Given the description of an element on the screen output the (x, y) to click on. 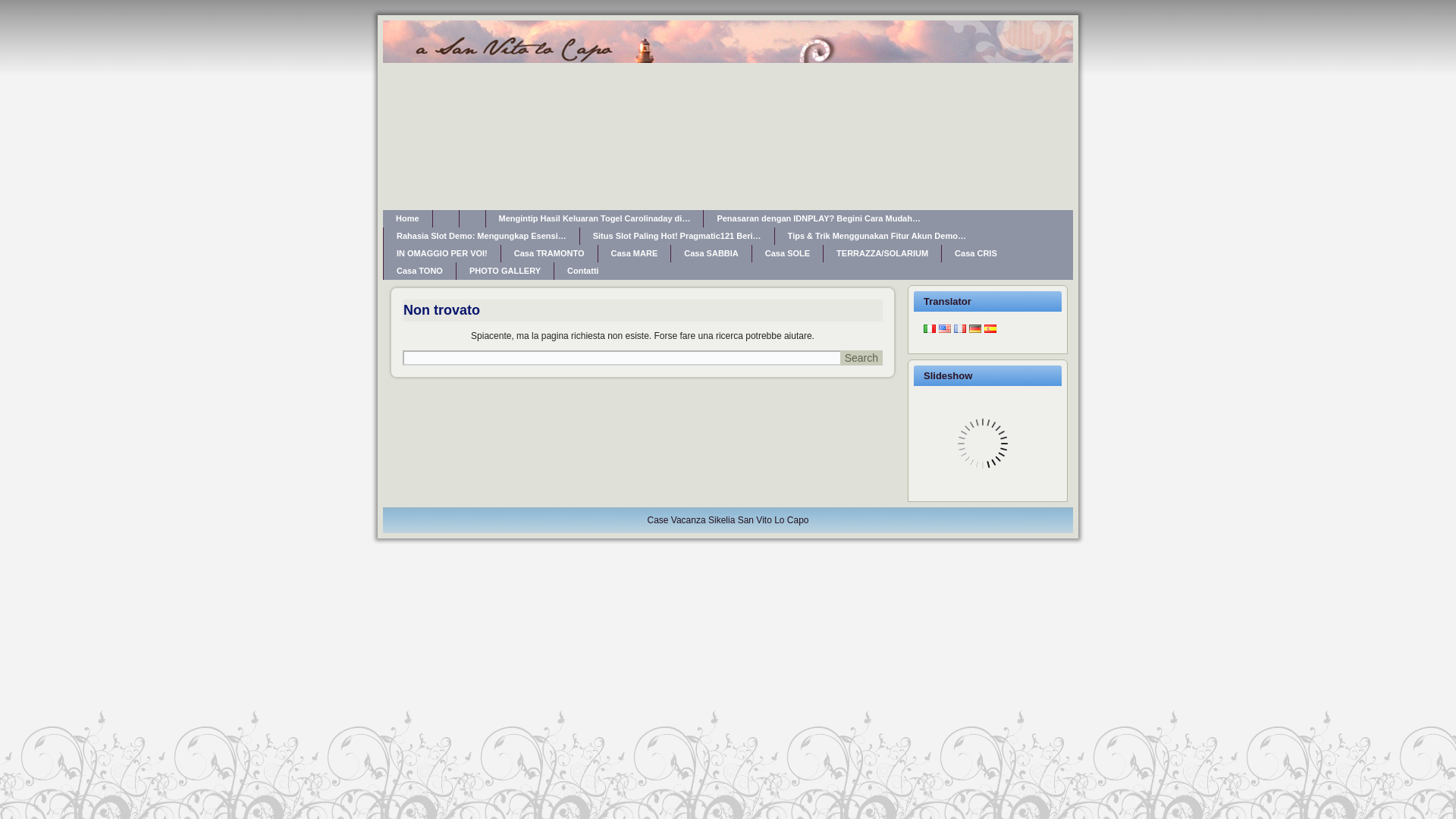
Casa CRIS (976, 253)
Casa MARE (632, 253)
Search (861, 357)
IN OMAGGIO PER VOI! (442, 253)
PHOTO GALLERY (505, 271)
Home (407, 218)
Casa TRAMONTO (548, 253)
Casa TONO (419, 271)
IN OMAGGIO PER VOI! (442, 253)
Casa TRAMONTO (548, 253)
Search (861, 357)
Casa SOLE (787, 253)
Casa TONO (419, 271)
Casa CRIS (976, 253)
